Given the description of an element on the screen output the (x, y) to click on. 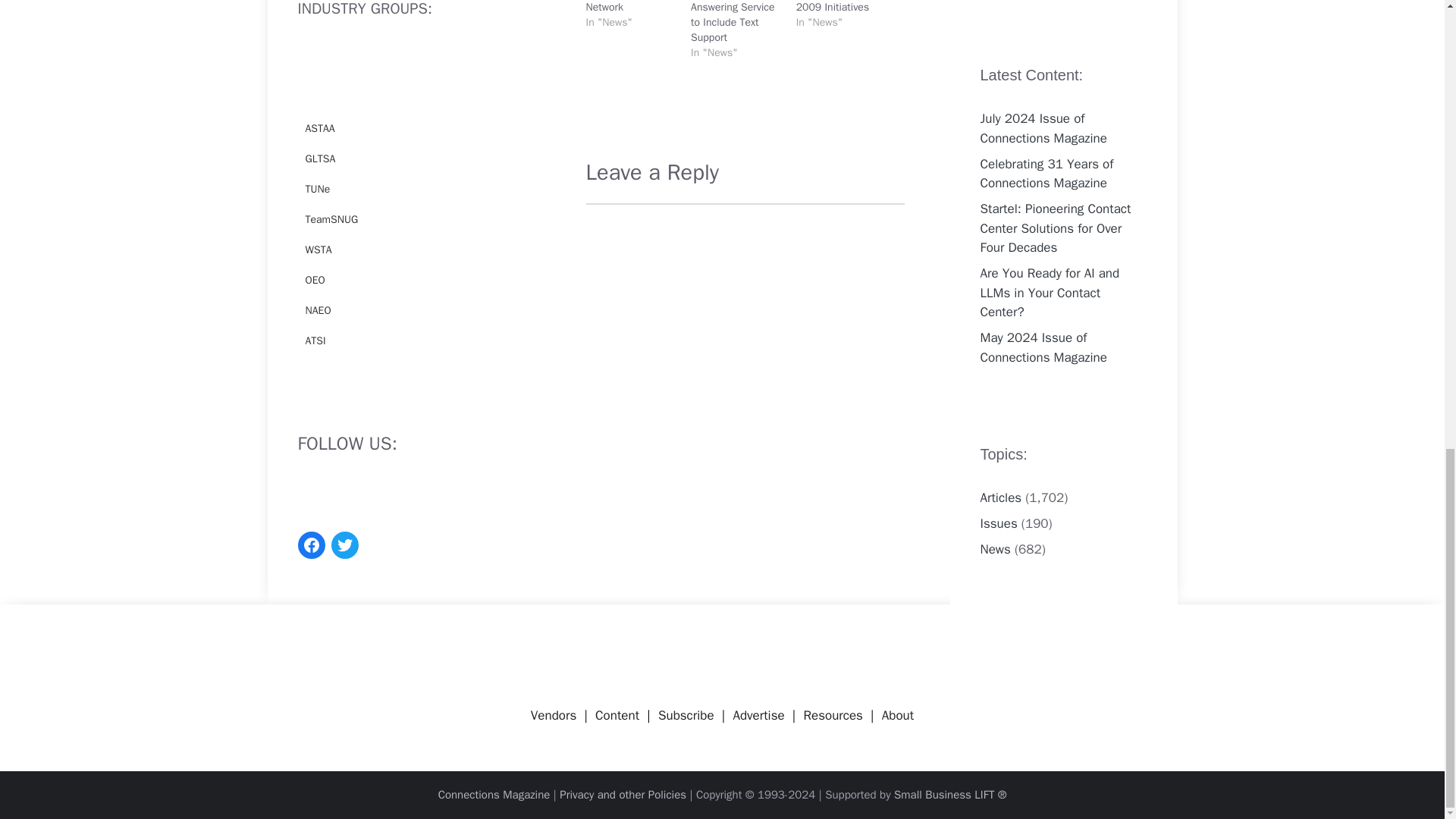
Comment Form (744, 366)
Scroll back to top (1406, 541)
AnswerNet Acquires Assets of Exchange Network (631, 6)
AnswerNet Changes Its Name Amid New 2009 Initiatives (842, 6)
